Given the description of an element on the screen output the (x, y) to click on. 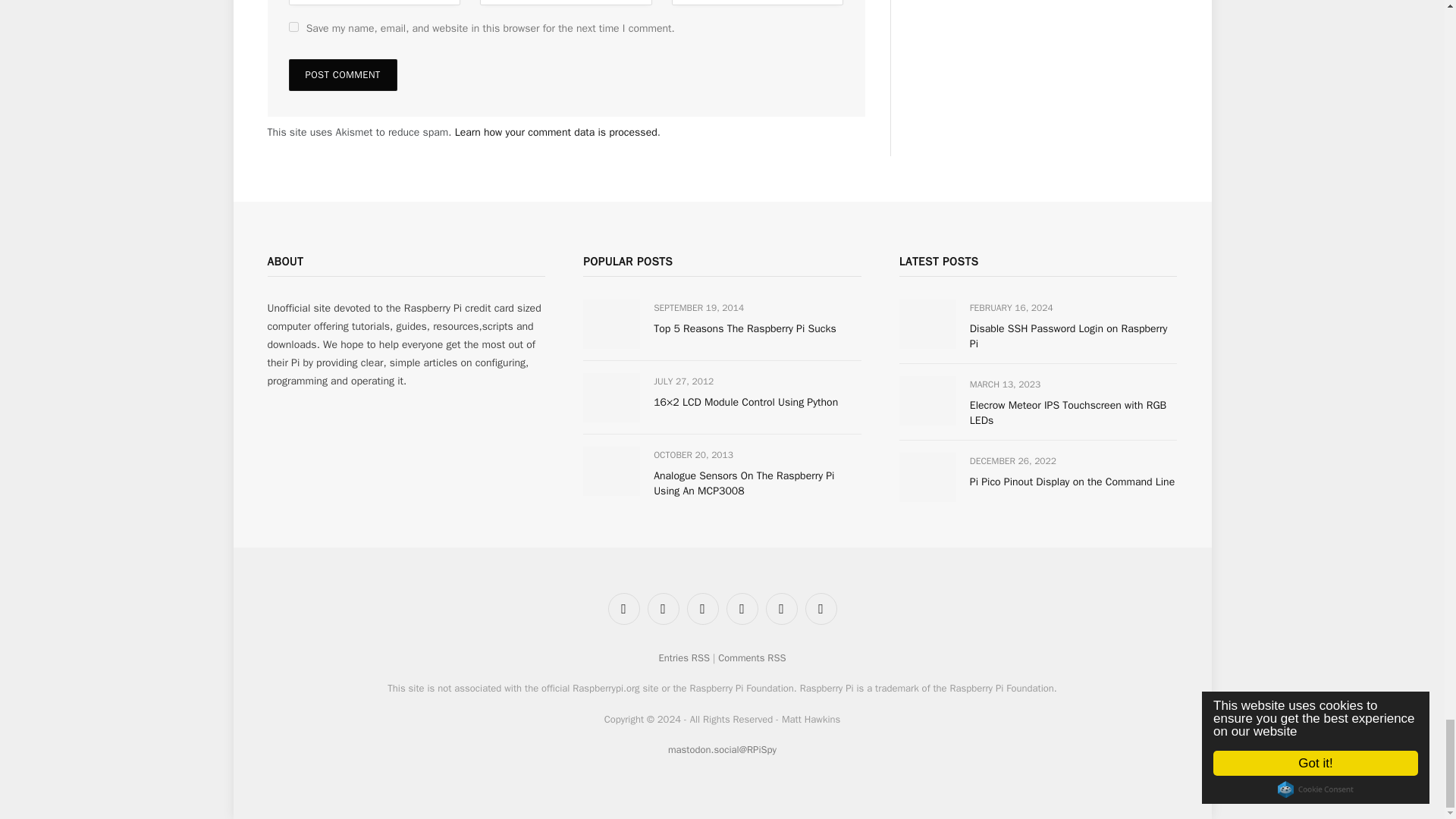
Post Comment (342, 74)
yes (293, 26)
